Given the description of an element on the screen output the (x, y) to click on. 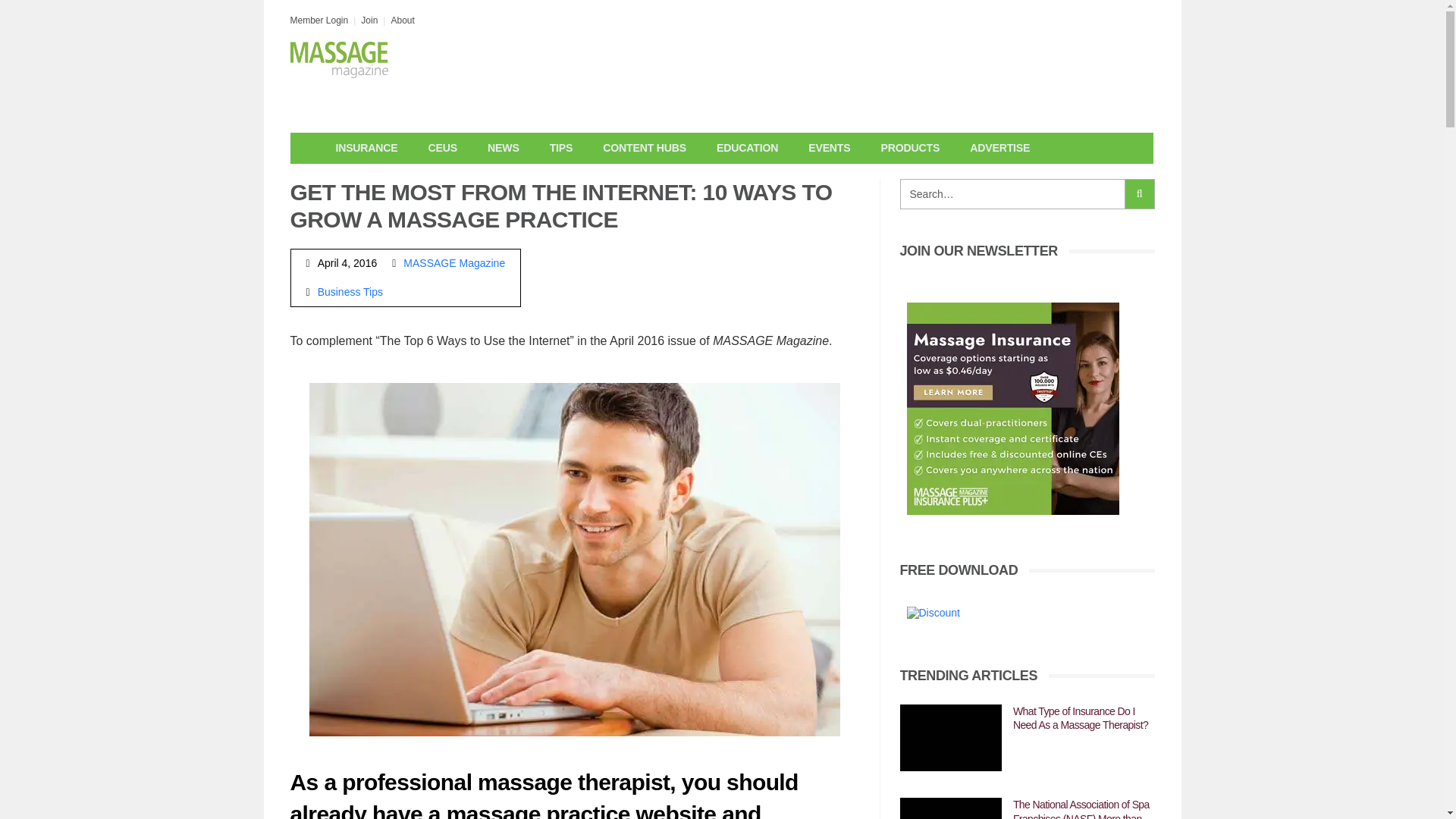
CEUS (442, 147)
Member Login (318, 20)
About (401, 20)
EVENTS (828, 147)
NEWS (502, 147)
What Type of Insurance Do I Need As a Massage Therapist? (950, 738)
Search for: (1011, 194)
CONTENT HUBS (644, 147)
INSURANCE (366, 147)
TIPS (561, 147)
